Given the description of an element on the screen output the (x, y) to click on. 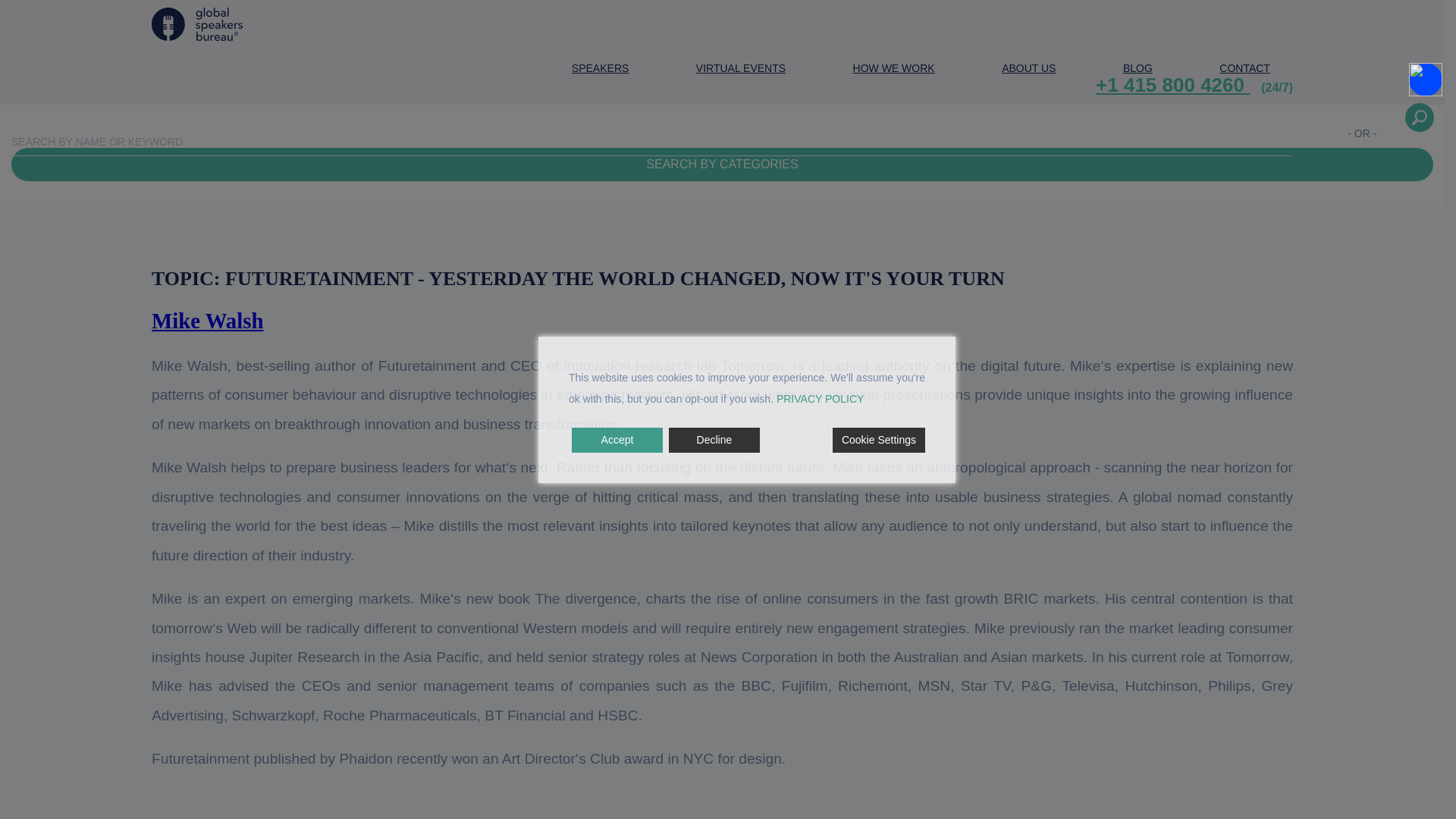
ABOUT US (1028, 69)
SEARCH BY CATEGORIES (721, 164)
SPEAKERS (600, 69)
VIRTUAL EVENTS (740, 69)
Accessibility Menu (1425, 79)
CONTACT (1244, 69)
BLOG (1137, 69)
HOW WE WORK (893, 69)
